Given the description of an element on the screen output the (x, y) to click on. 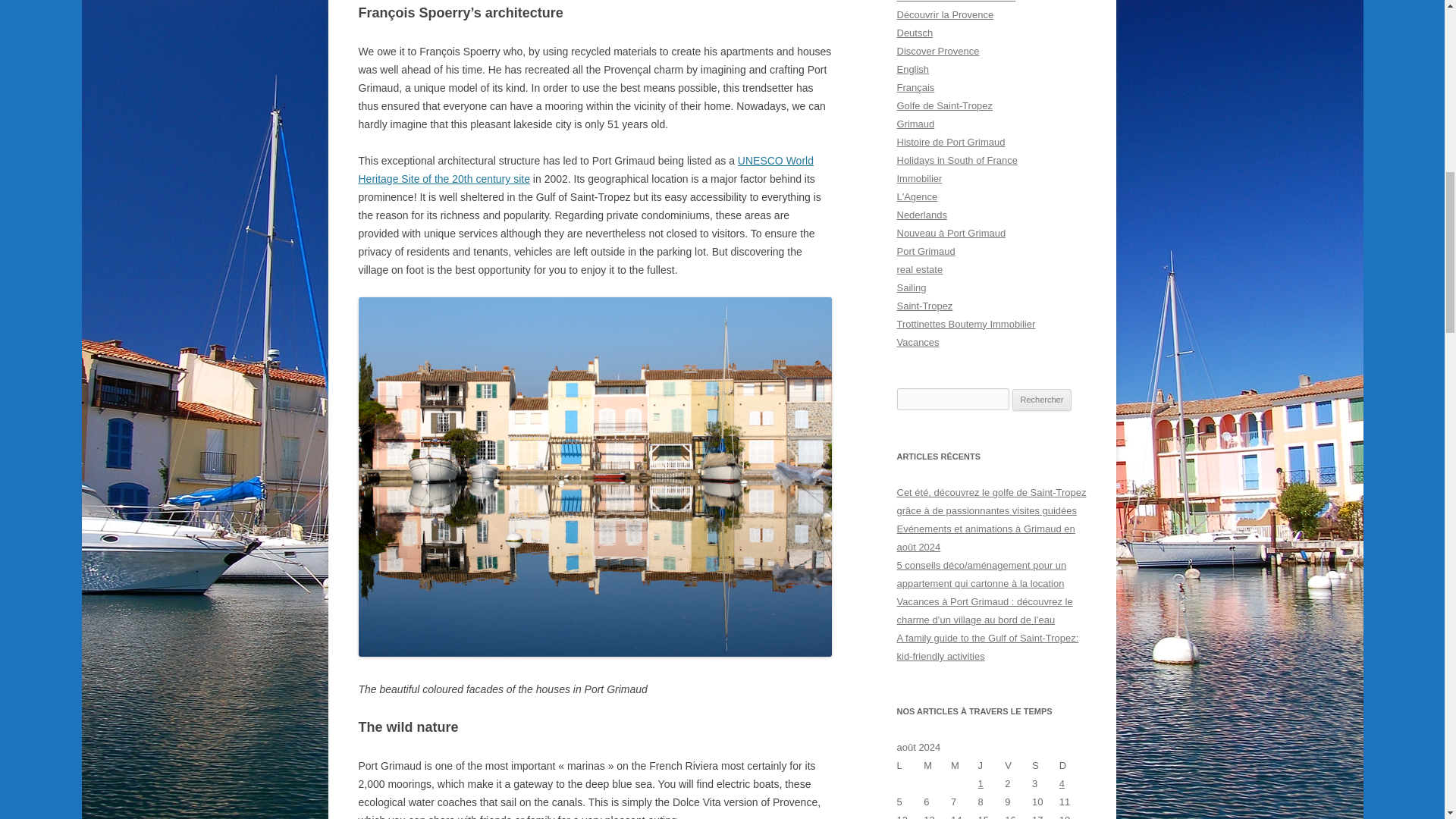
Histoire de Port Grimaud (950, 142)
Discover Provence (937, 50)
samedi (1045, 765)
Nederlands (921, 214)
lundi (909, 765)
Port Grimaud (925, 251)
Golfe de Saint-Tropez (944, 105)
vendredi (1018, 765)
mardi (936, 765)
Sailing (911, 287)
